Given the description of an element on the screen output the (x, y) to click on. 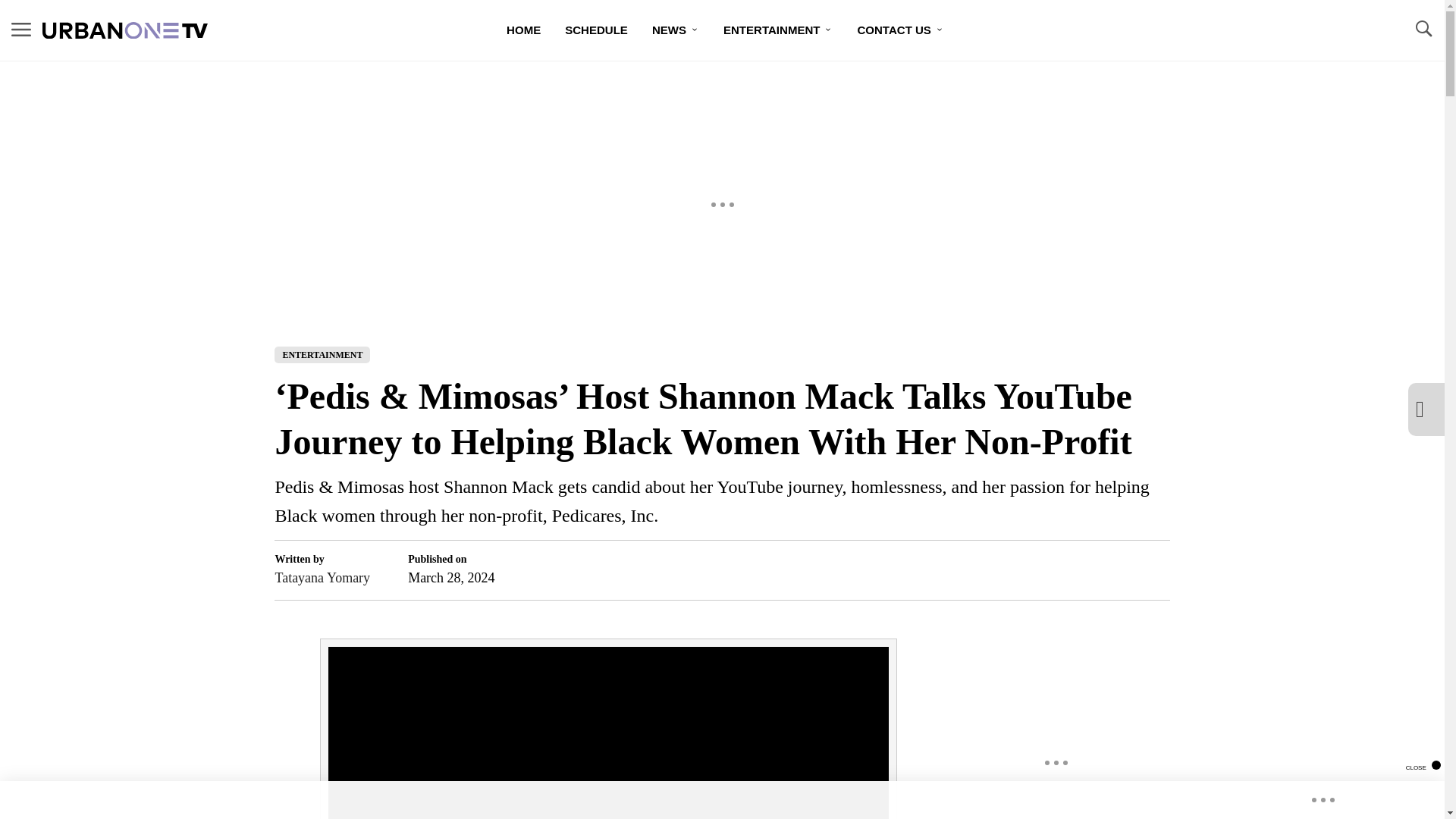
SCHEDULE (596, 30)
CONTACT US (899, 30)
MENU (20, 29)
MENU (20, 30)
ENTERTAINMENT (777, 30)
News  (675, 30)
Entertainment News (777, 30)
TOGGLE SEARCH (1422, 28)
Share (1131, 570)
HOME (524, 30)
